Given the description of an element on the screen output the (x, y) to click on. 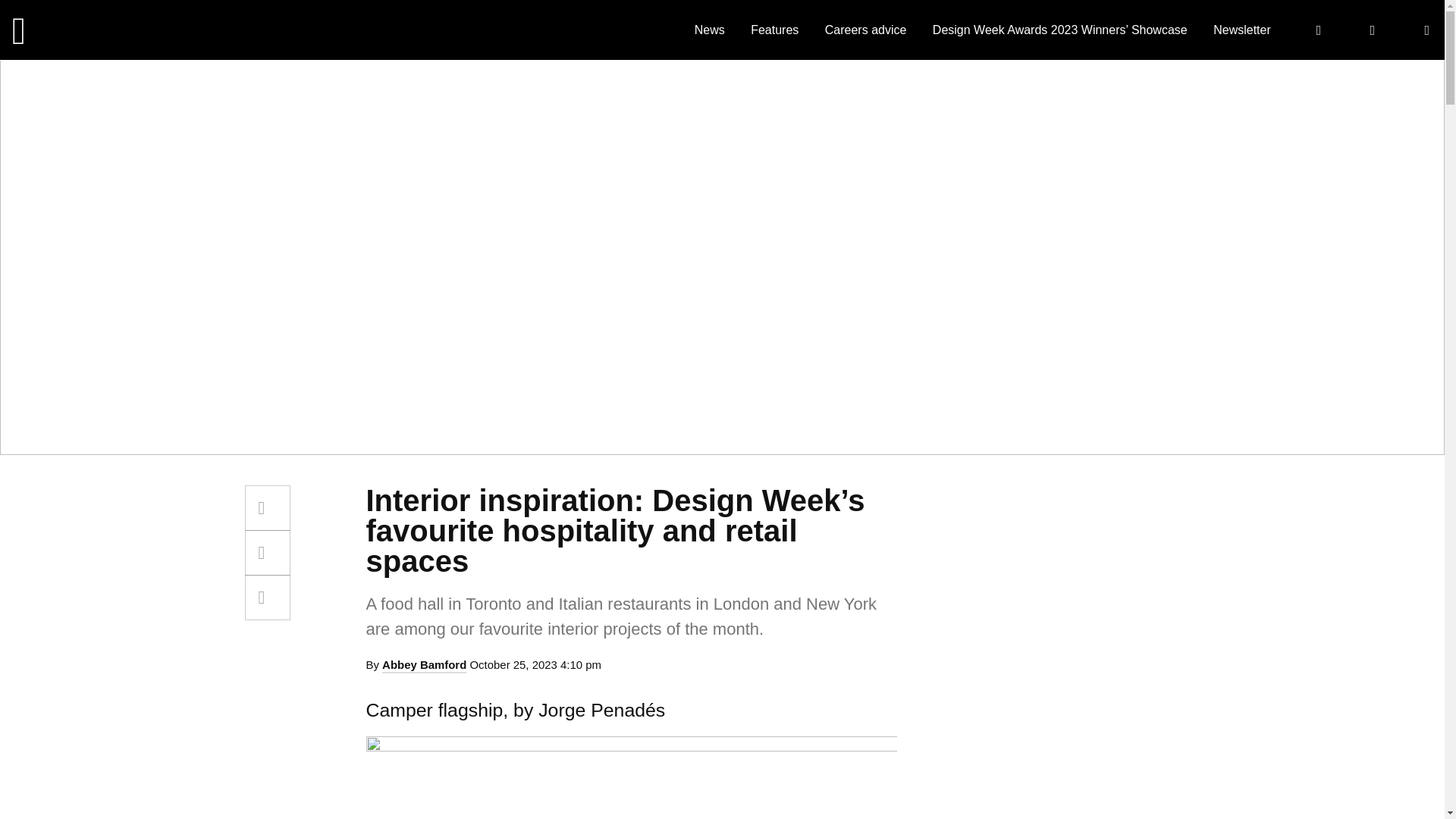
Abbey Bamford (423, 666)
Posts by Abbey Bamford (423, 666)
Careers advice (866, 29)
News (709, 29)
Features (774, 29)
Newsletter (1241, 29)
